Given the description of an element on the screen output the (x, y) to click on. 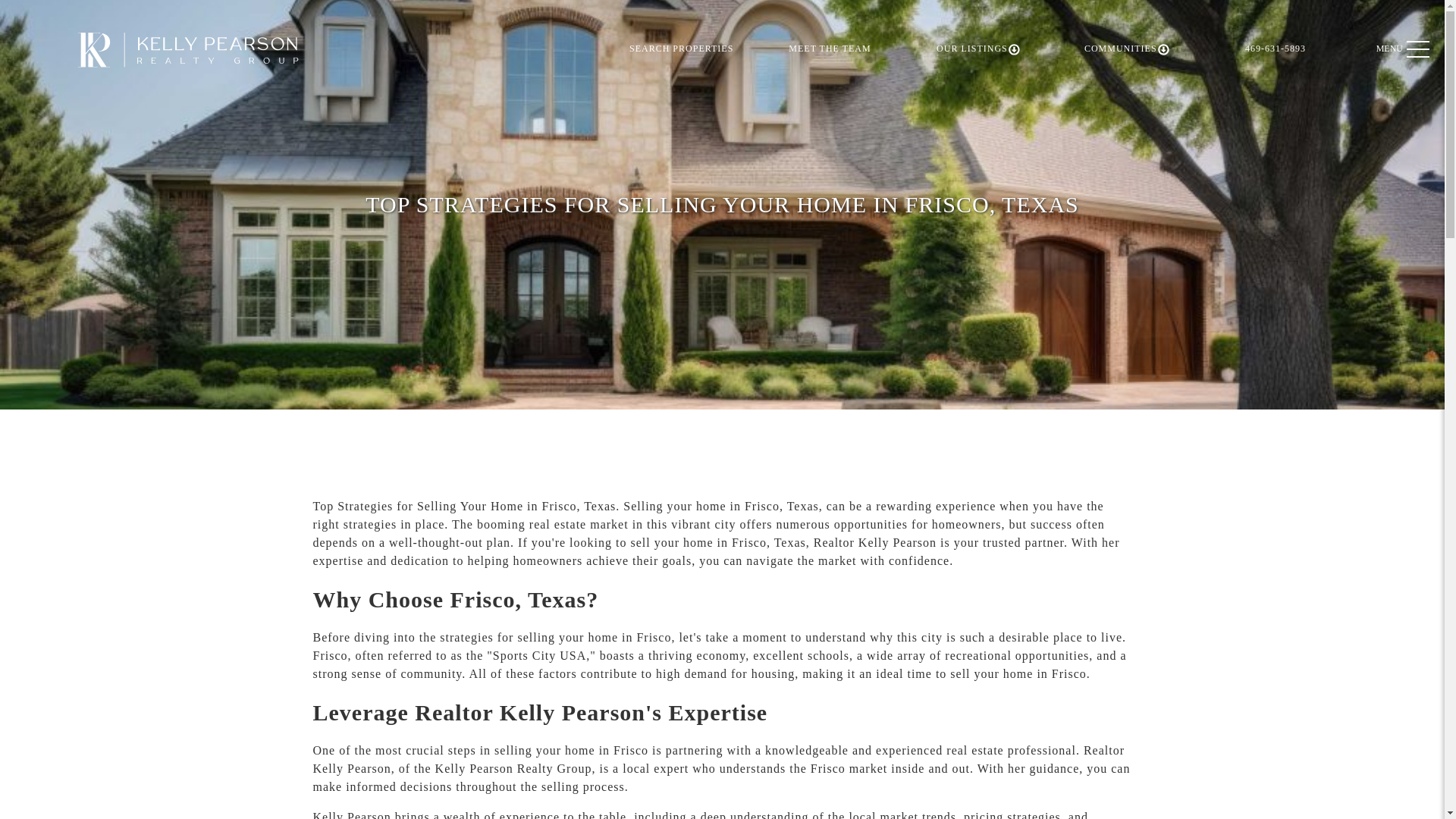
COMMUNITIES (1126, 48)
SEARCH PROPERTIES (681, 48)
469-631-5893 (1275, 48)
MEET THE TEAM (829, 48)
OUR LISTINGS (978, 48)
